Given the description of an element on the screen output the (x, y) to click on. 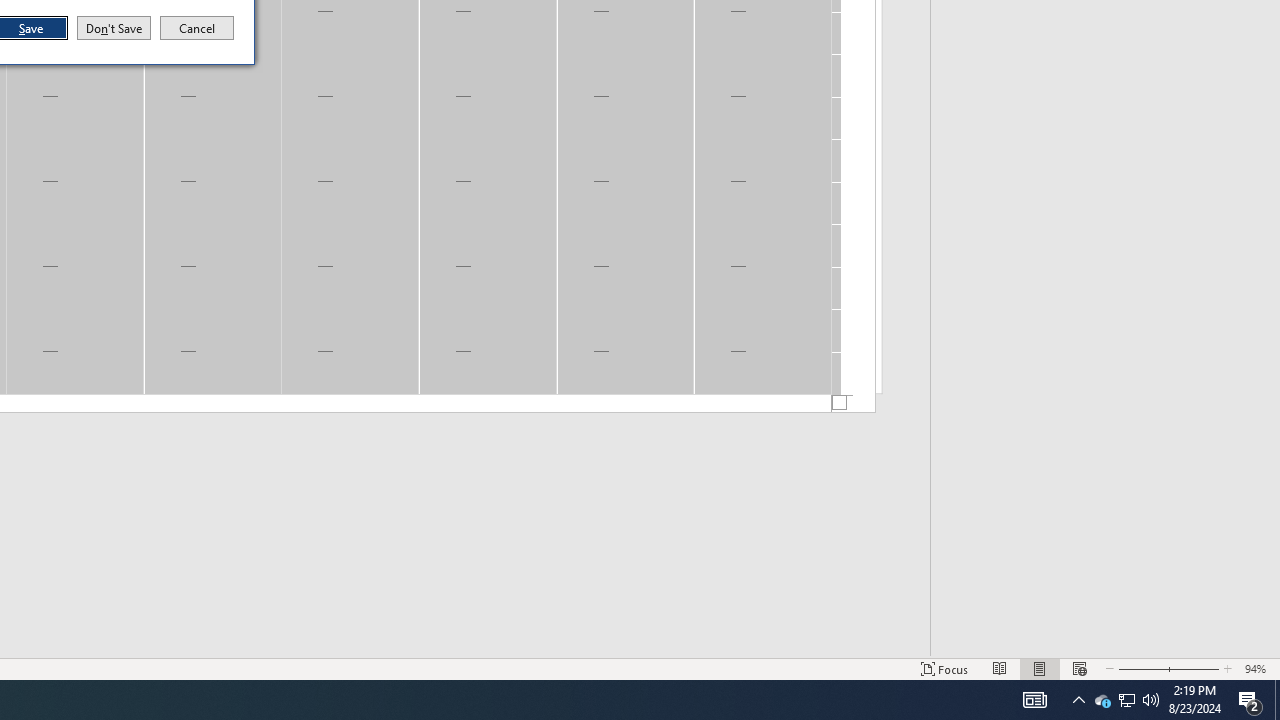
Zoom In (1193, 668)
Notification Chevron (1078, 699)
Print Layout (1039, 668)
Q2790: 100% (1151, 699)
Web Layout (1079, 668)
Action Center, 2 new notifications (1250, 699)
Show desktop (1277, 699)
Zoom Out (1140, 668)
User Promoted Notification Area (1126, 699)
Don't Save (113, 27)
Focus  (944, 668)
